Given the description of an element on the screen output the (x, y) to click on. 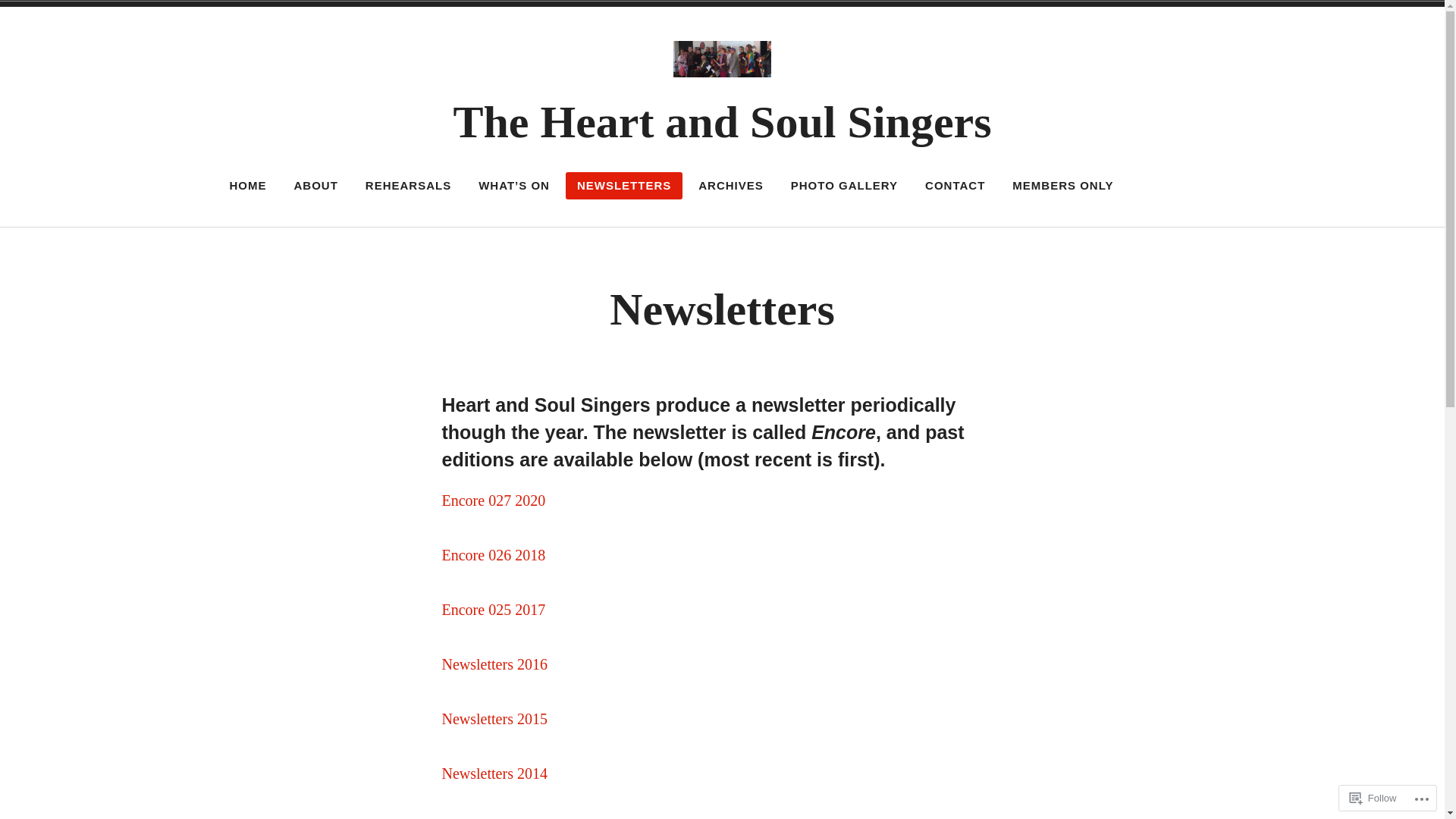
Encore 027 2020 Element type: text (493, 500)
Newsletters 2014 Element type: text (493, 773)
MEMBERS ONLY Element type: text (1062, 185)
The Heart and Soul Singers Element type: text (721, 122)
REHEARSALS Element type: text (408, 185)
Encore 026 2018 Element type: text (493, 554)
ABOUT Element type: text (315, 185)
Follow Element type: text (1372, 797)
NEWSLETTERS Element type: text (623, 185)
HOME Element type: text (248, 185)
CONTACT Element type: text (954, 185)
ARCHIVES Element type: text (731, 185)
Newsletters 2015 Element type: text (493, 718)
Newsletters 2016 Element type: text (493, 663)
PHOTO GALLERY Element type: text (844, 185)
Encore 025 2017 Element type: text (493, 609)
